Given the description of an element on the screen output the (x, y) to click on. 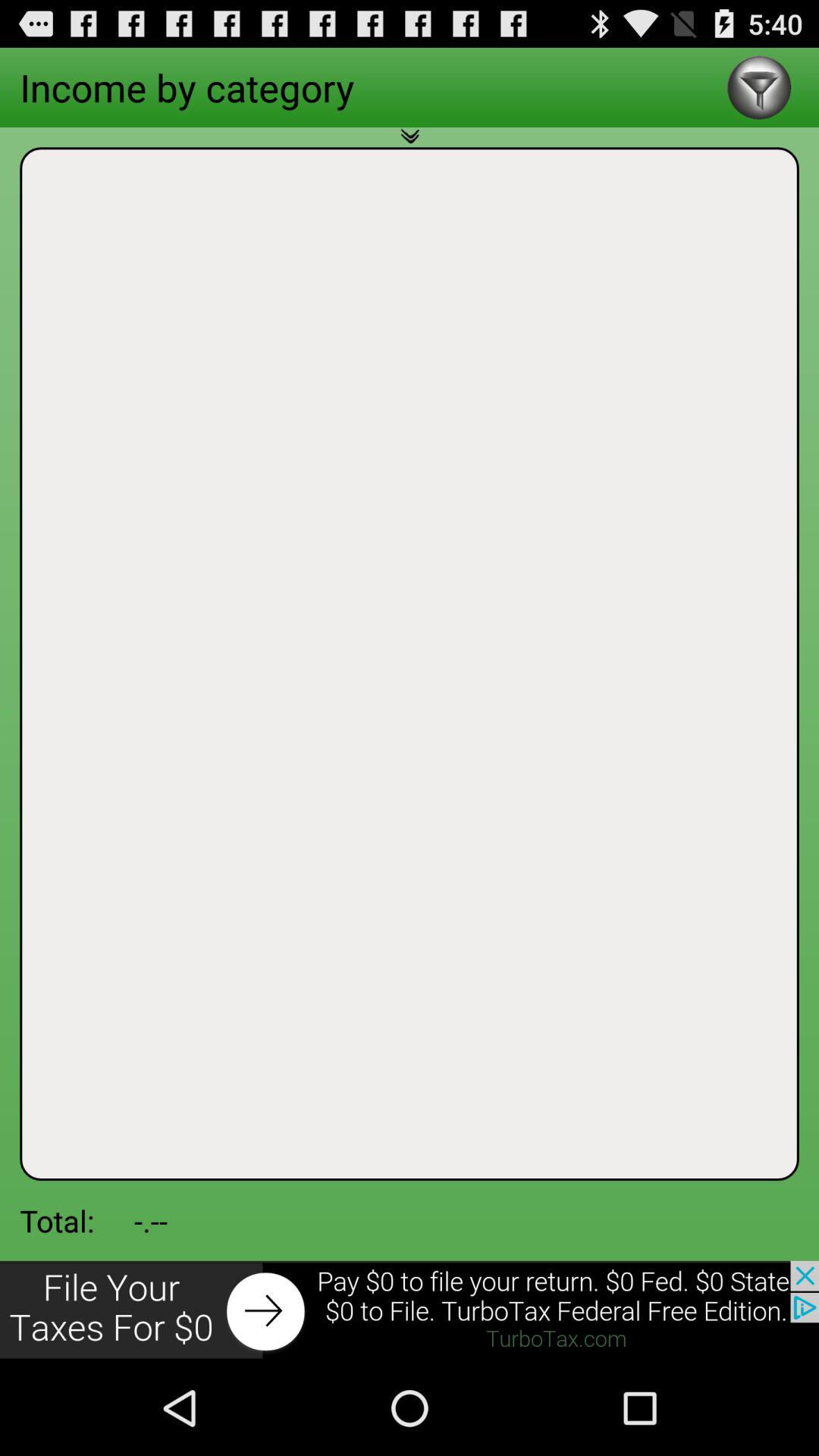
filter results (759, 87)
